Given the description of an element on the screen output the (x, y) to click on. 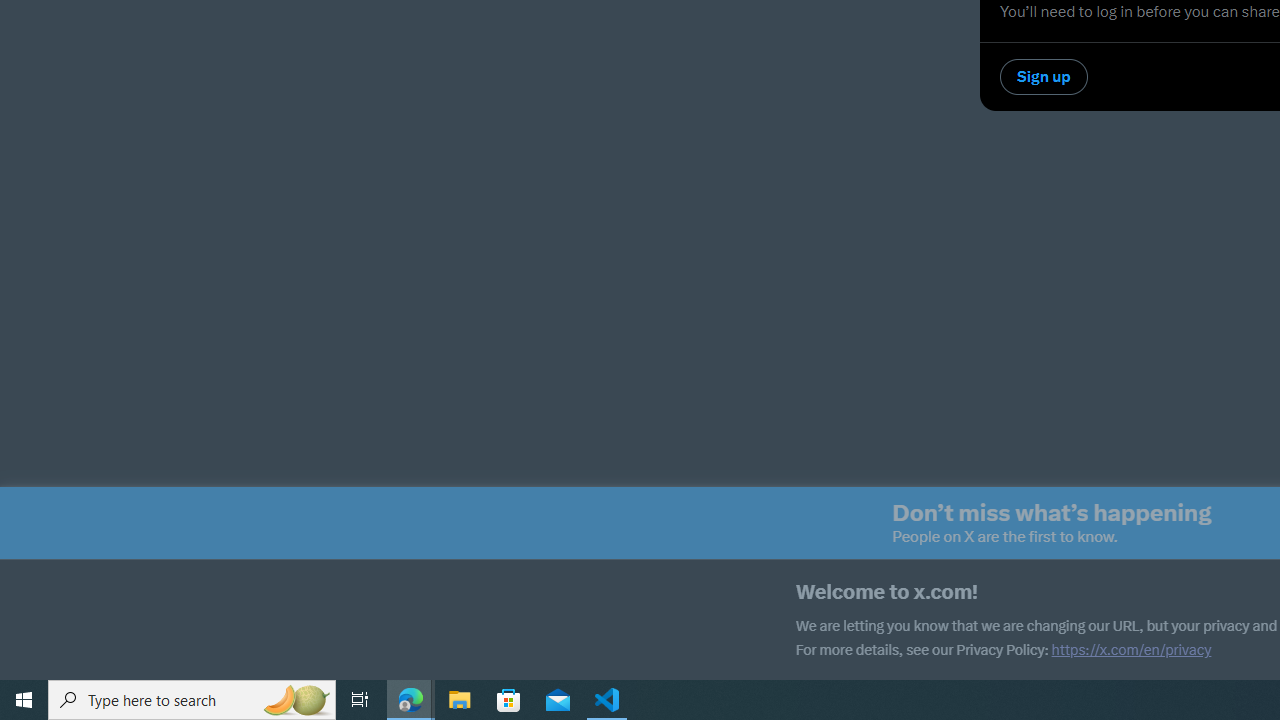
https://x.com/en/privacy (1131, 650)
